Given the description of an element on the screen output the (x, y) to click on. 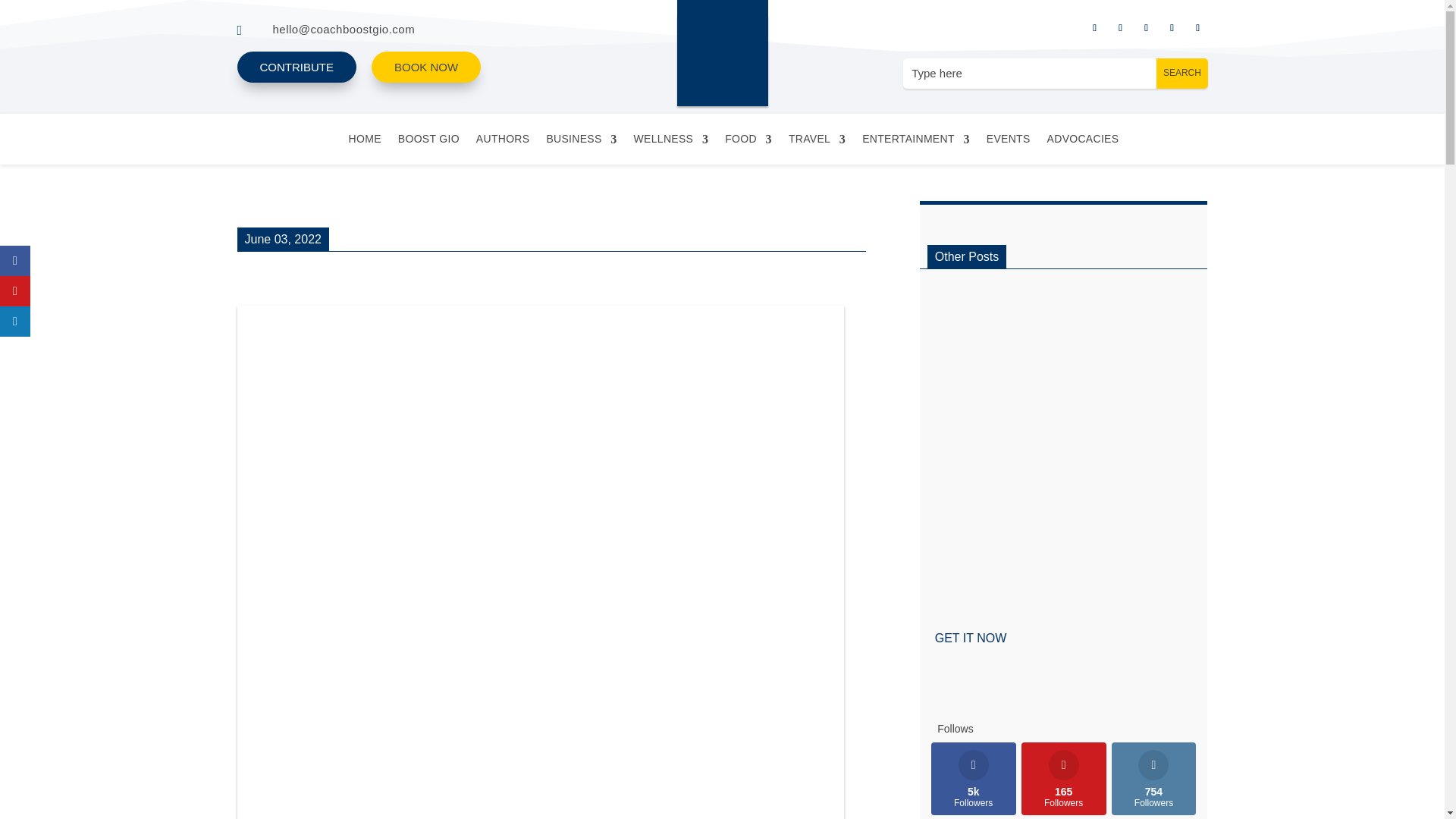
BOOK NOW (425, 67)
BOOST GIO (428, 142)
Follow on LinkedIn (1145, 27)
Follow on Facebook (1093, 27)
Follow on Instagram (1119, 27)
BUSINESS (580, 142)
WELLNESS (671, 142)
FOOD (748, 142)
Search (1181, 73)
Search (1181, 73)
Follow on Pinterest (1197, 27)
Follow on Youtube (1170, 27)
CONTRIBUTE (296, 67)
TRAVEL (817, 142)
AUTHORS (502, 142)
